Given the description of an element on the screen output the (x, y) to click on. 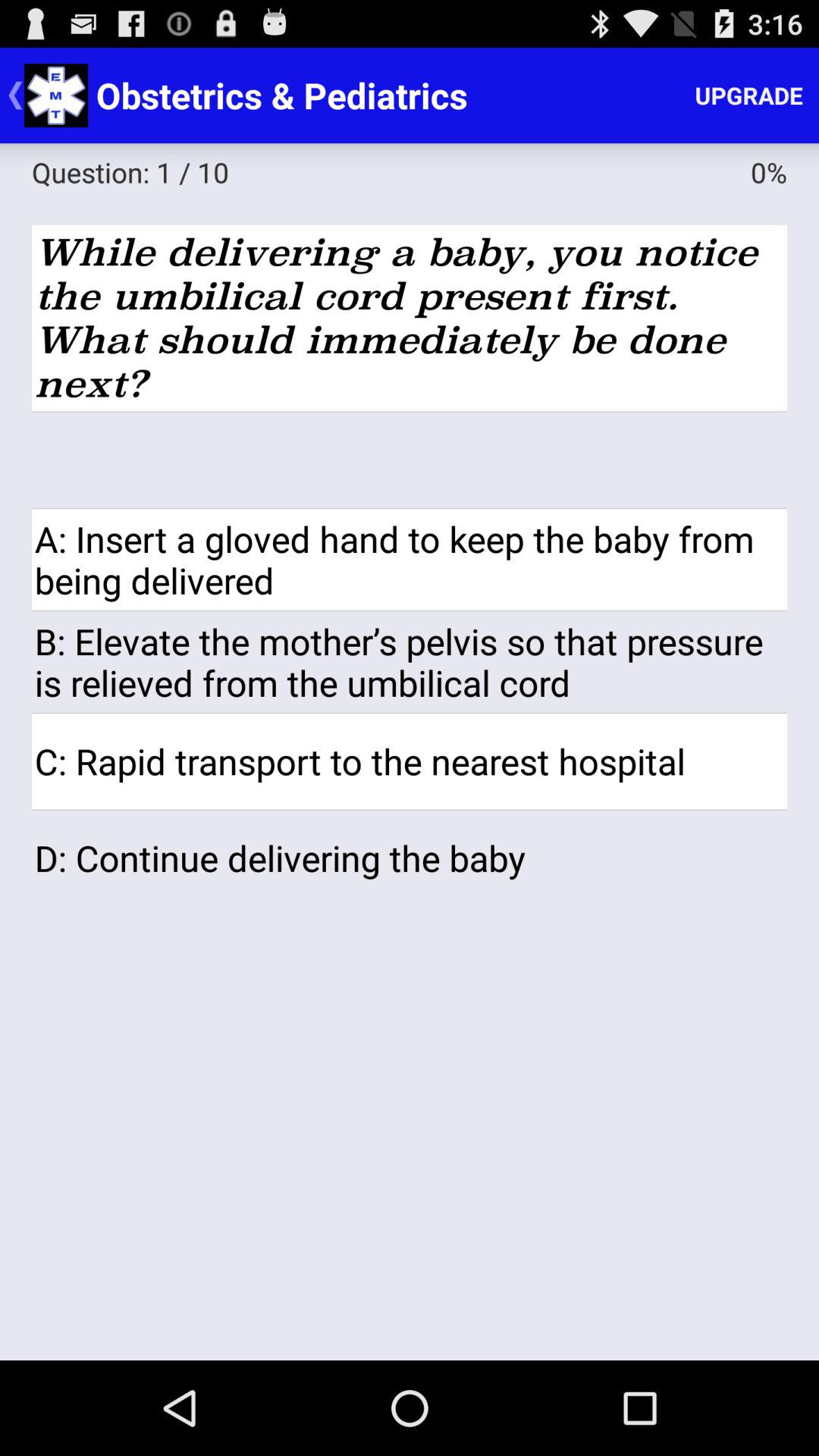
press item below a insert a item (409, 661)
